Given the description of an element on the screen output the (x, y) to click on. 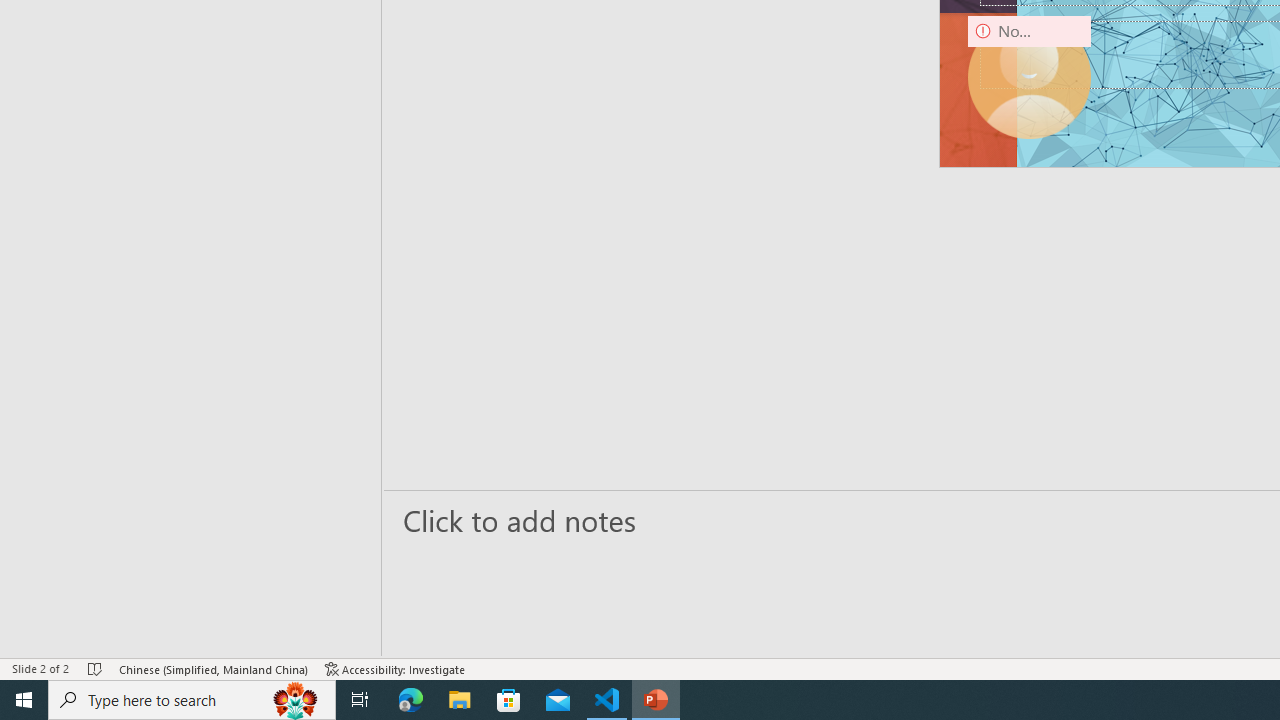
Accessibility Checker Accessibility: Investigate (395, 668)
Camera 9, No camera detected. (1029, 77)
Spell Check No Errors (95, 668)
